Given the description of an element on the screen output the (x, y) to click on. 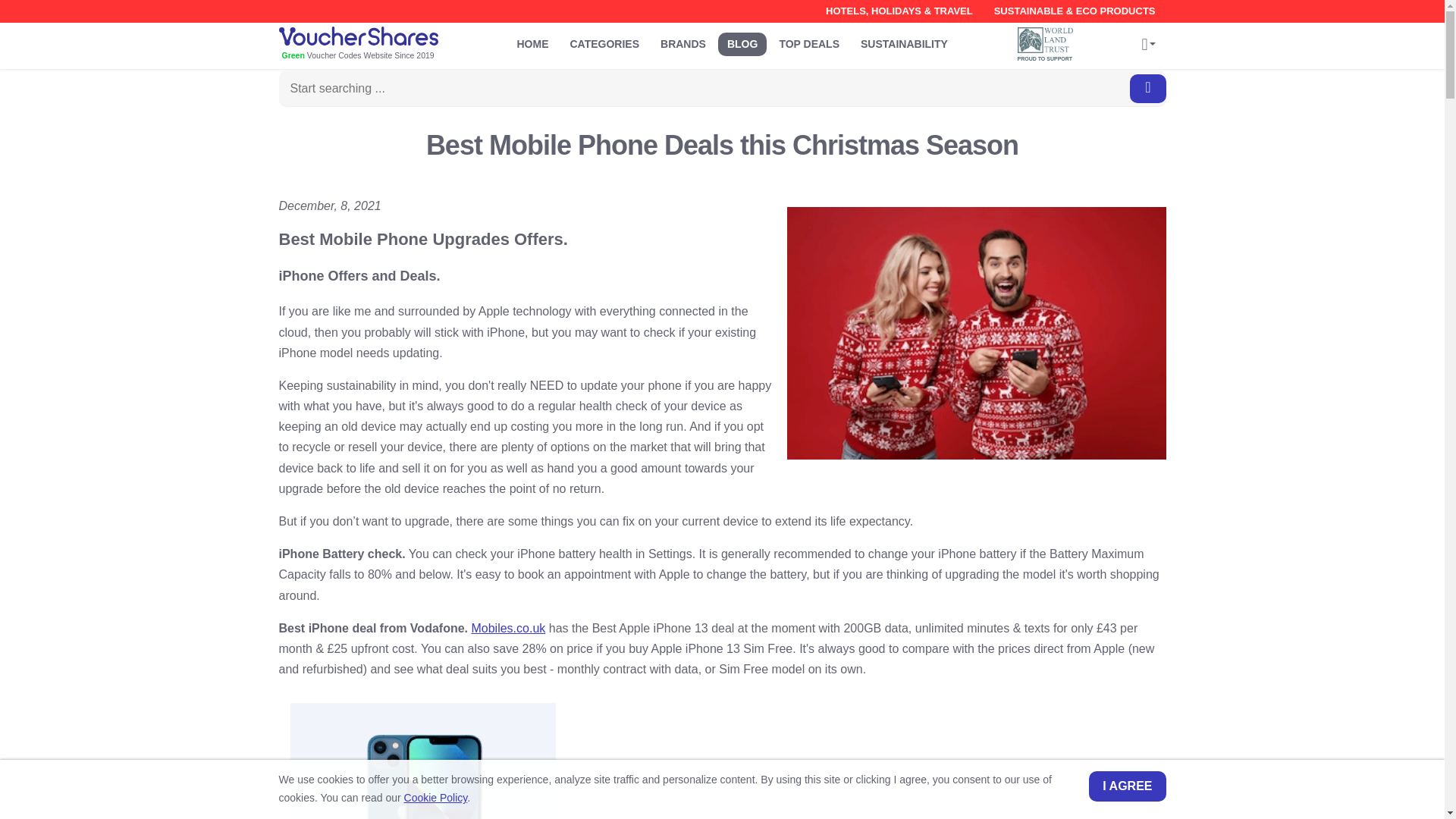
PROUD TO SUPPORT (1048, 44)
Green Voucher Codes Website Since 2019 (381, 44)
Personal Area (1148, 45)
Brands (682, 44)
World Land Trust (1045, 40)
HOME (532, 44)
World Land Trust (1048, 44)
TOP DEALS (809, 44)
Top Deals (809, 44)
BRANDS (682, 44)
Blog (742, 44)
Categories (604, 44)
Mobiles.co.uk (507, 627)
SUSTAINABILITY (903, 44)
Home (532, 44)
